Given the description of an element on the screen output the (x, y) to click on. 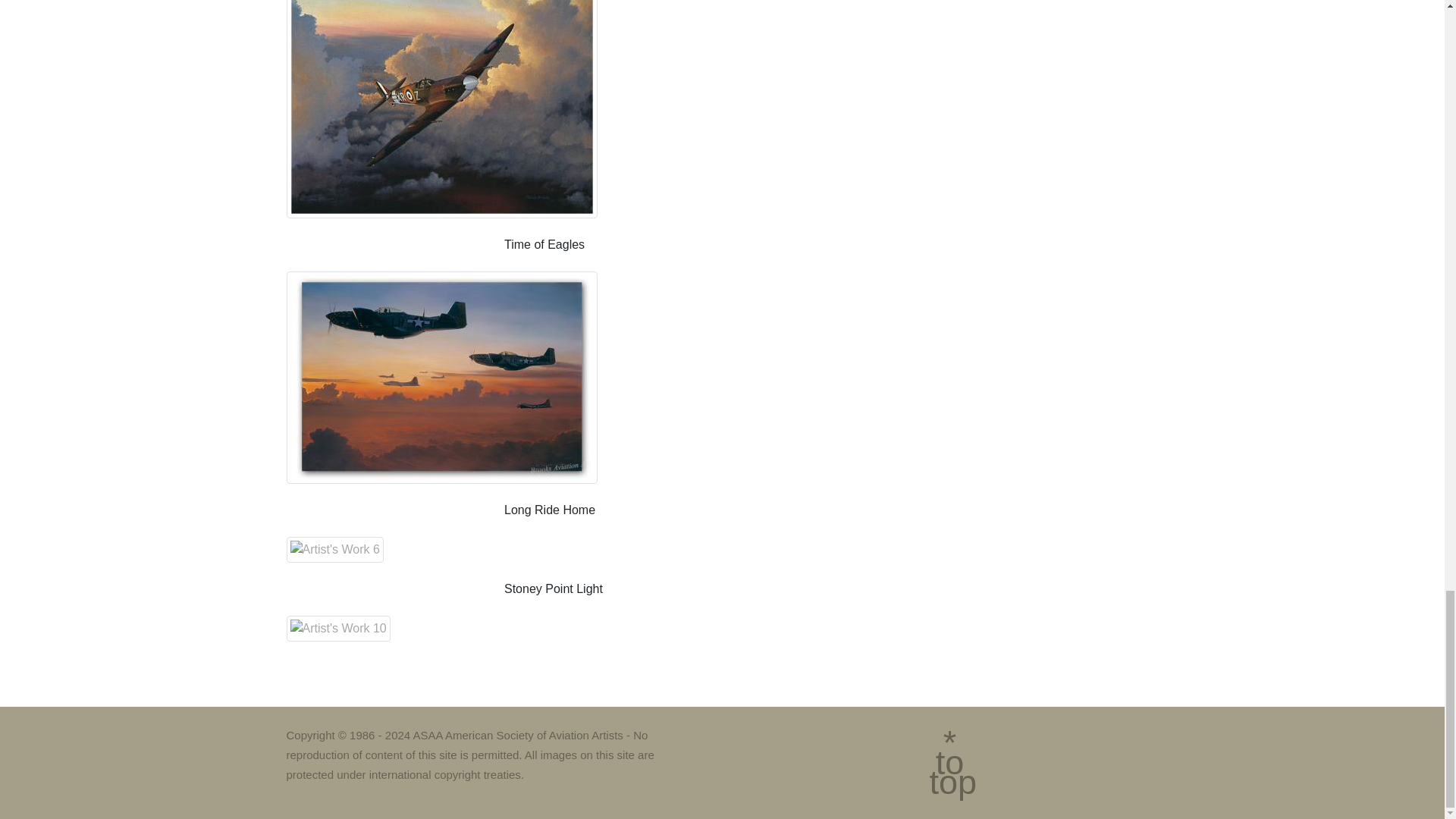
Artist's Work 5 (441, 377)
Artist's Work 10 (338, 628)
Artist's Work 6 (335, 549)
Artist's Work 4 (441, 109)
